Given the description of an element on the screen output the (x, y) to click on. 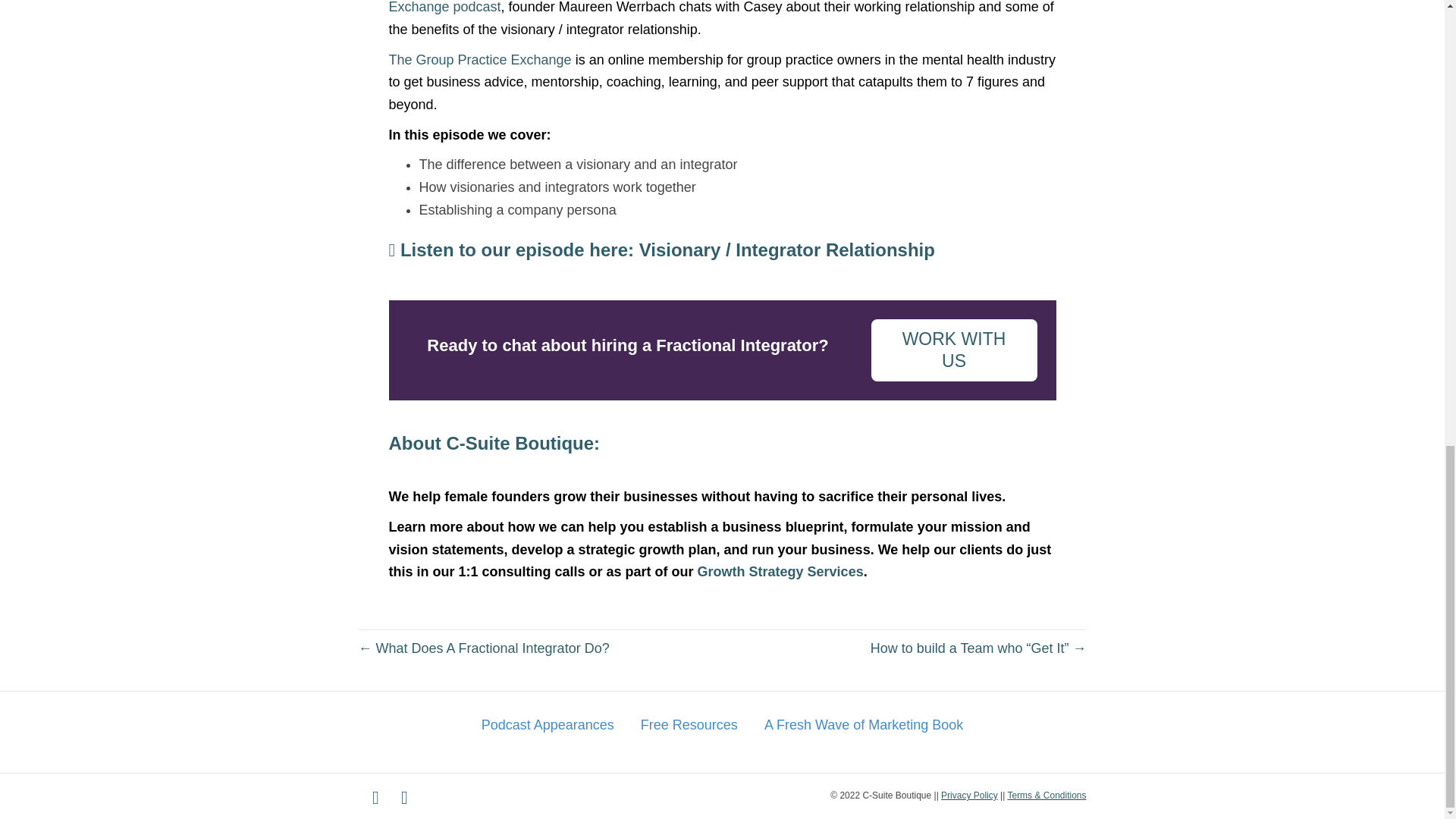
WORK WITH US (953, 350)
The Group Practice Exchange podcast (701, 7)
Growth Strategy Services (780, 571)
The Group Practice Exchange (479, 59)
Podcast Appearances (547, 724)
Free Resources (689, 724)
